Given the description of an element on the screen output the (x, y) to click on. 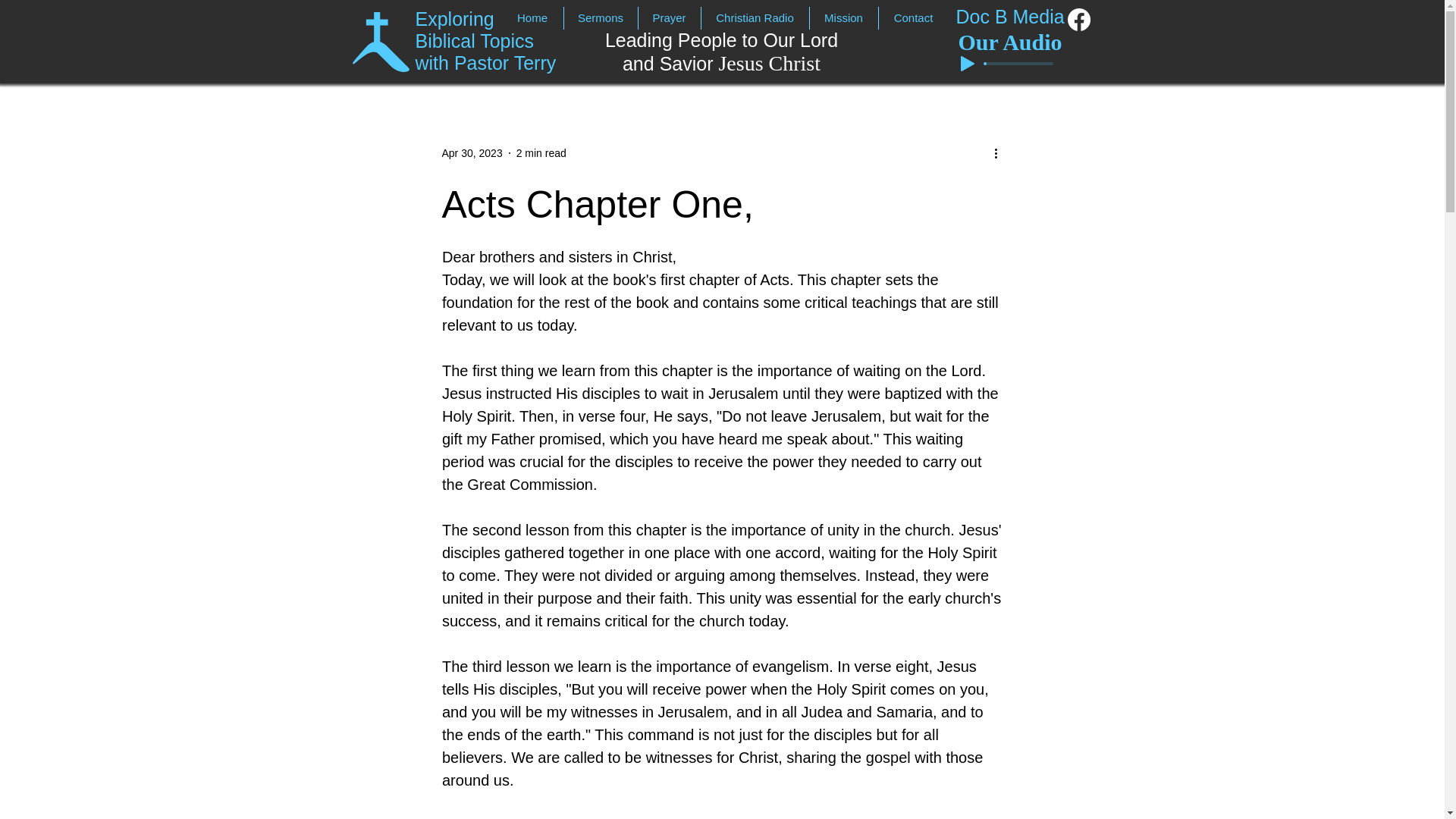
Apr 30, 2023 (471, 152)
Sermons (485, 40)
Contact (721, 51)
2 min read (599, 17)
Doc B Media (913, 17)
Christian Radio (541, 152)
0 (1009, 16)
Home (754, 17)
